Given the description of an element on the screen output the (x, y) to click on. 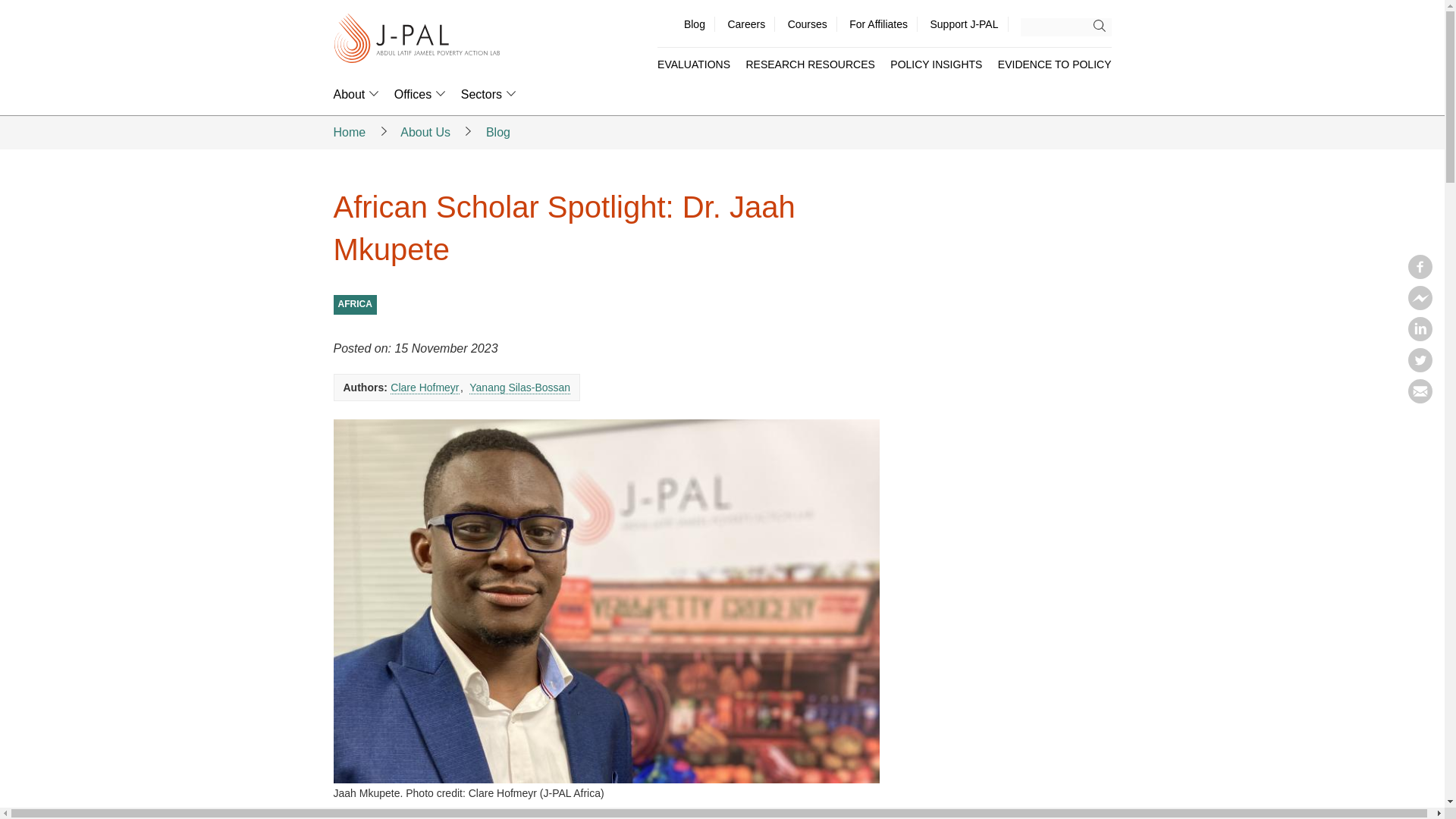
Twitter (1419, 367)
Facebook (1419, 274)
Linkedin (1419, 336)
Search (1102, 25)
Facebook messenger (1419, 305)
J-PAL (416, 39)
Email (1419, 399)
